Given the description of an element on the screen output the (x, y) to click on. 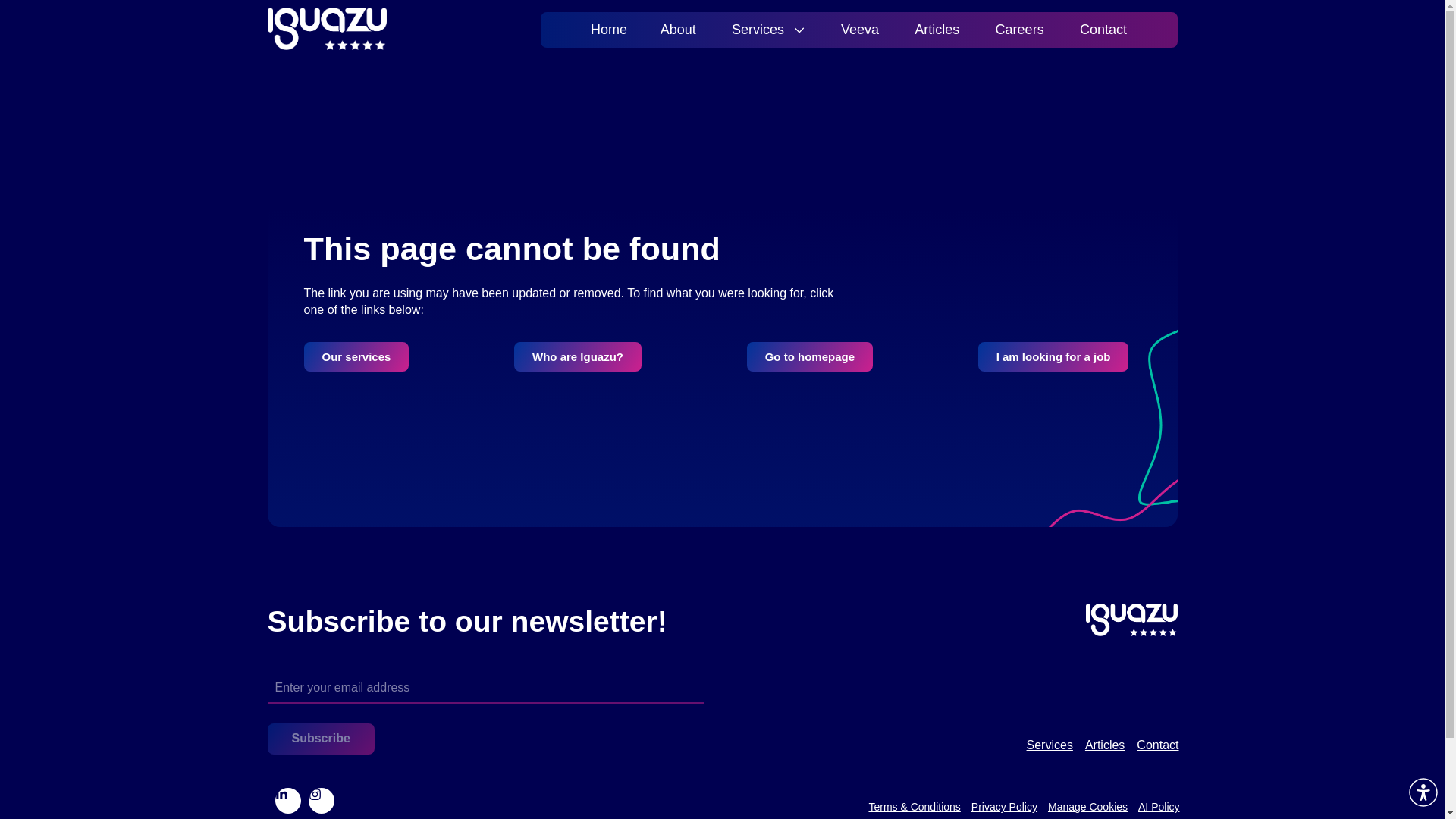
I am looking for a job (1053, 356)
Contact (1158, 745)
Articles (936, 29)
Our services (355, 356)
Veeva (859, 29)
Home (608, 29)
Iguazu (325, 28)
Articles (1104, 745)
Iguazu (295, 58)
Careers (1018, 29)
Subscribe (320, 738)
About (677, 29)
Iguazu (295, 58)
Manage Cookies (1087, 805)
Contact (1101, 29)
